Given the description of an element on the screen output the (x, y) to click on. 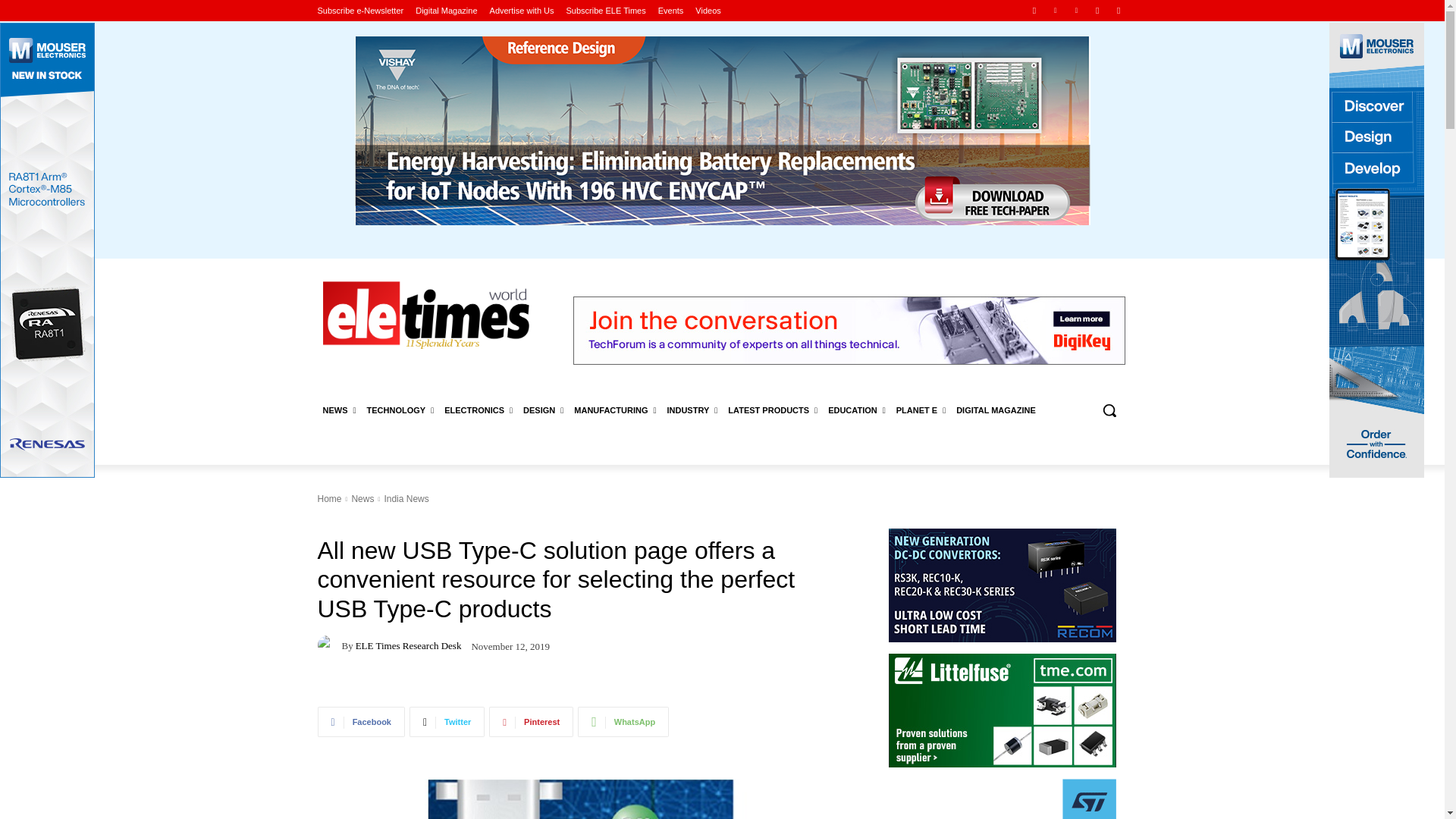
Pinterest (1075, 9)
Linkedin (1055, 9)
Facebook (1034, 9)
Tumblr (1097, 9)
Twitter (1117, 9)
